Given the description of an element on the screen output the (x, y) to click on. 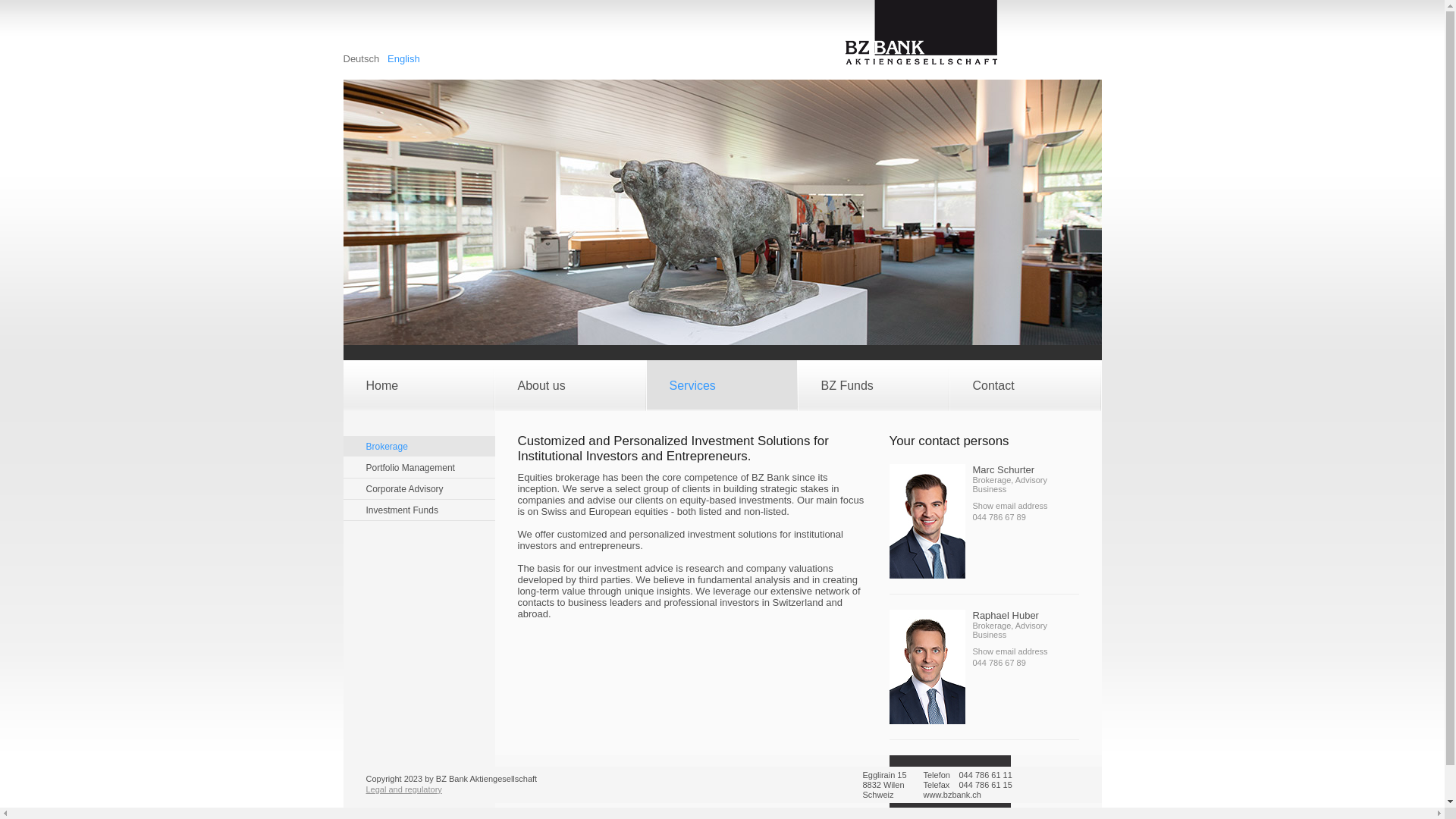
Legal and regulatory Element type: text (403, 788)
About us Element type: text (569, 384)
Investment Funds Element type: text (418, 509)
Portfolio Management Element type: text (418, 467)
BZ Funds Element type: text (872, 384)
Brokerage Element type: text (418, 446)
English Element type: text (403, 49)
Show email address Element type: text (1009, 505)
Show email address Element type: text (1009, 650)
Services Element type: text (721, 384)
Deutsch Element type: text (361, 58)
Home Element type: text (417, 384)
Contact Element type: text (1024, 384)
Corporate Advisory Element type: text (418, 488)
